Given the description of an element on the screen output the (x, y) to click on. 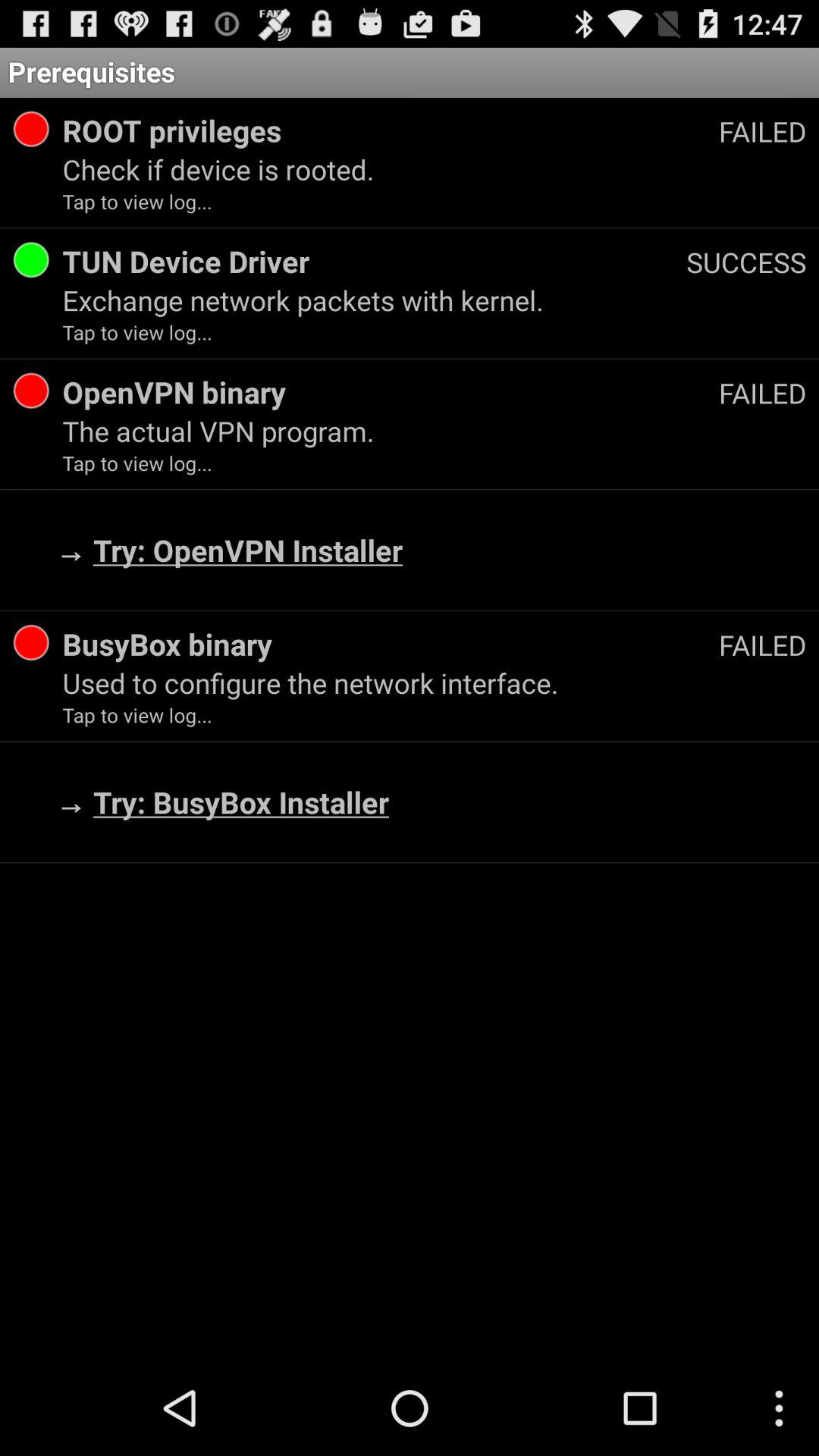
turn on item to the left of the success (374, 261)
